Given the description of an element on the screen output the (x, y) to click on. 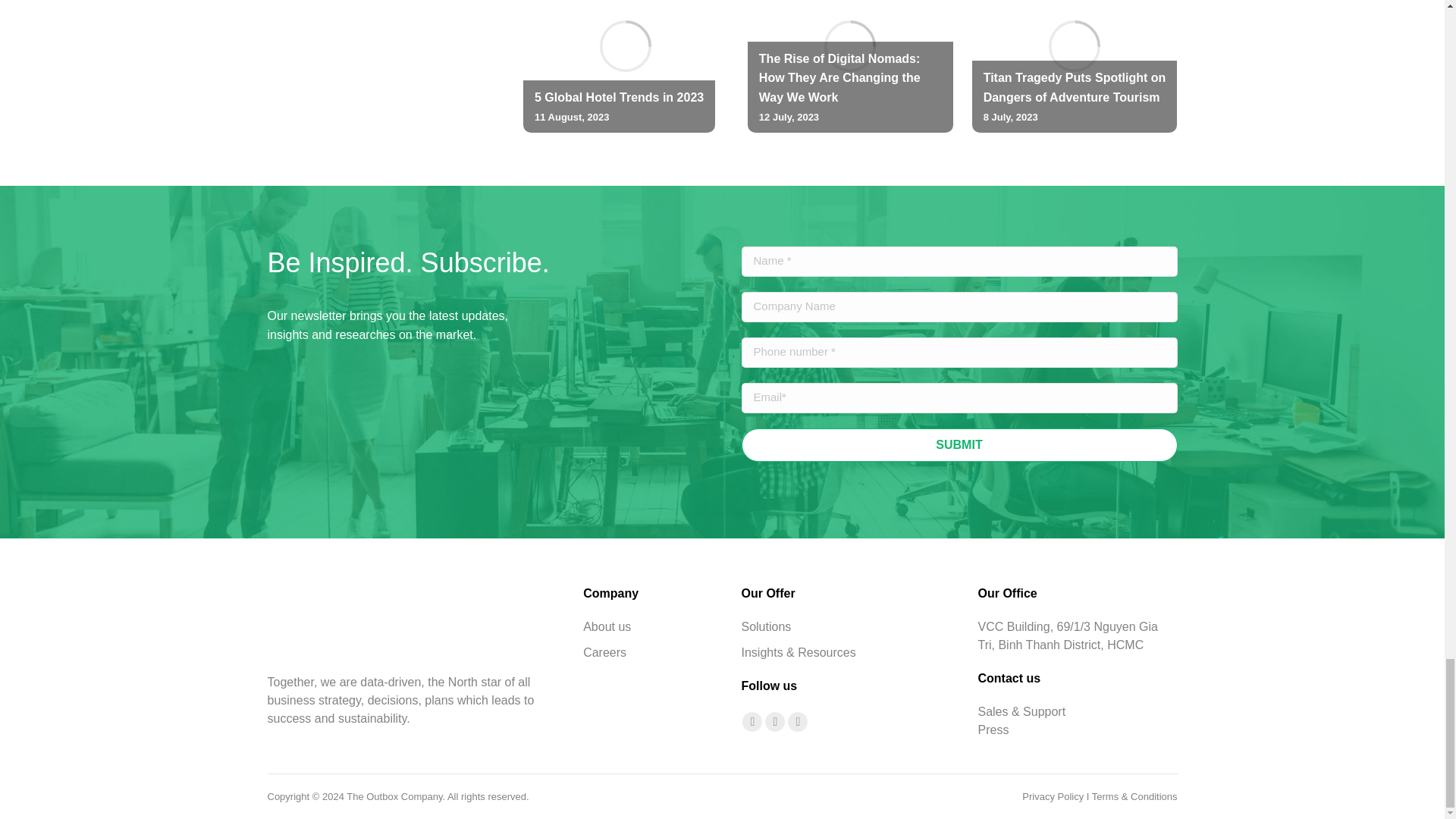
SUBMIT (959, 444)
